Given the description of an element on the screen output the (x, y) to click on. 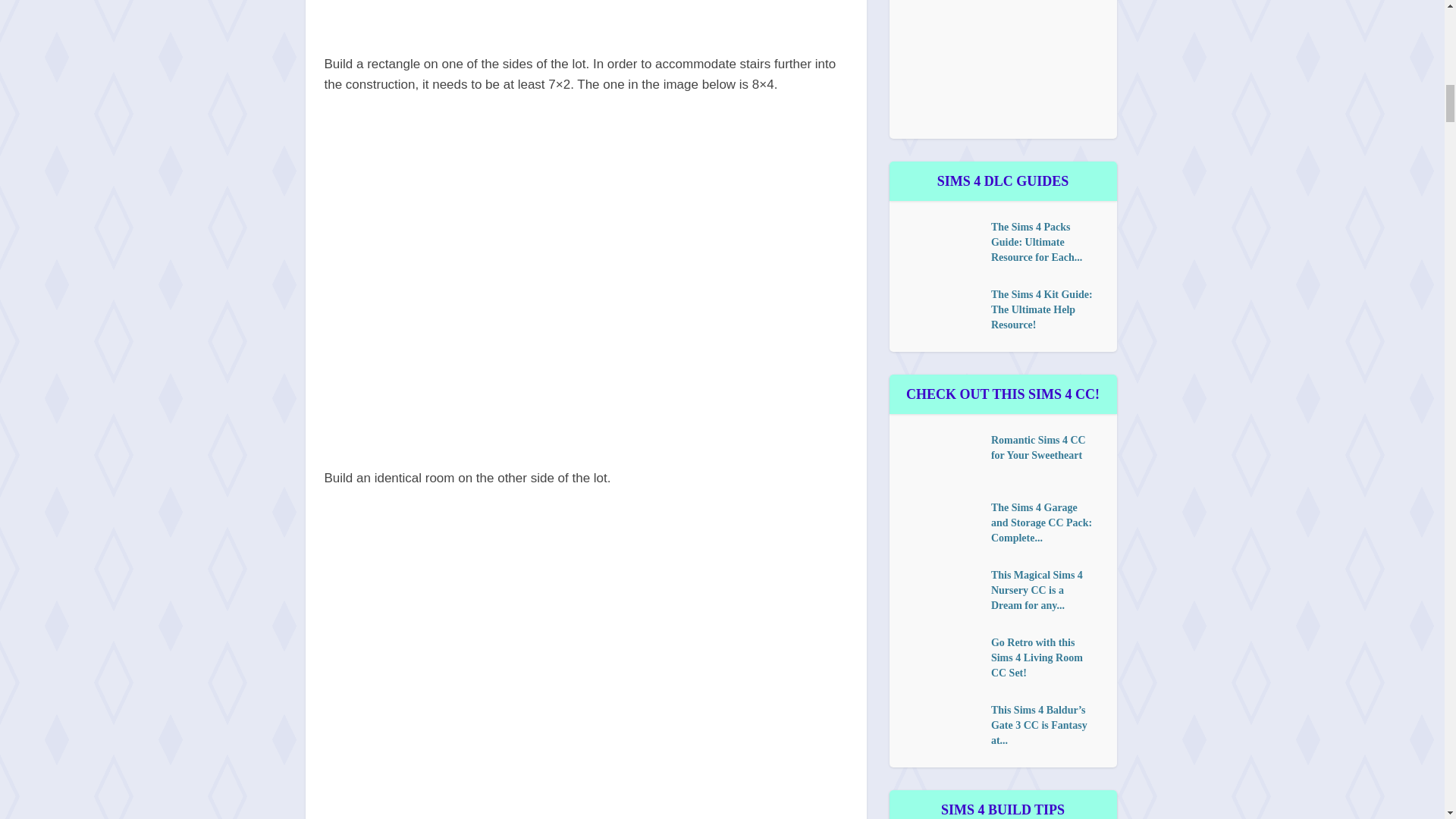
The Sims 4 Building: Creating Suspended Buildings 3 (585, 15)
